Given the description of an element on the screen output the (x, y) to click on. 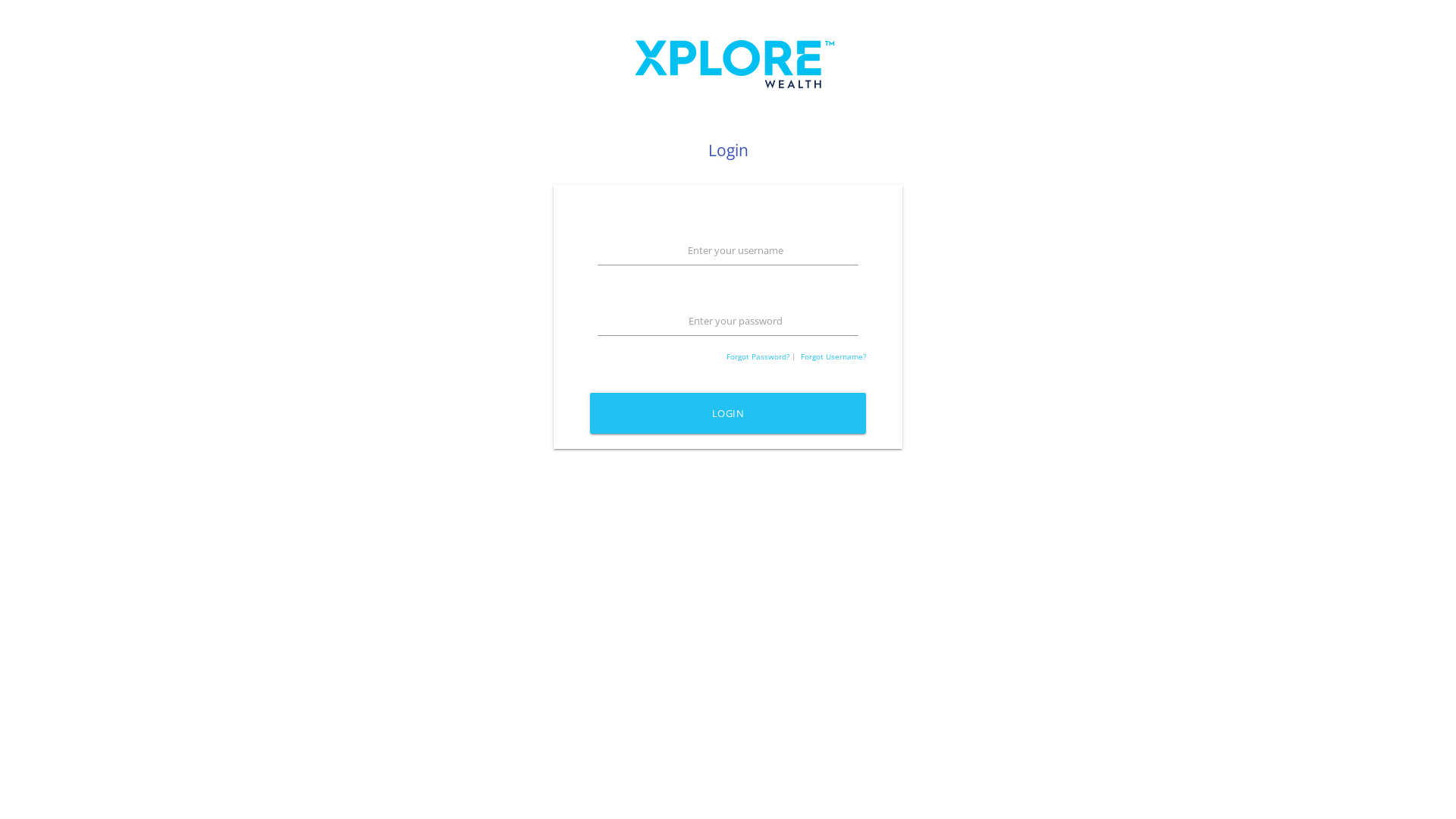
Forgot Password? Element type: text (757, 356)
LOGIN Element type: text (727, 412)
Forgot Username? Element type: text (833, 356)
